Given the description of an element on the screen output the (x, y) to click on. 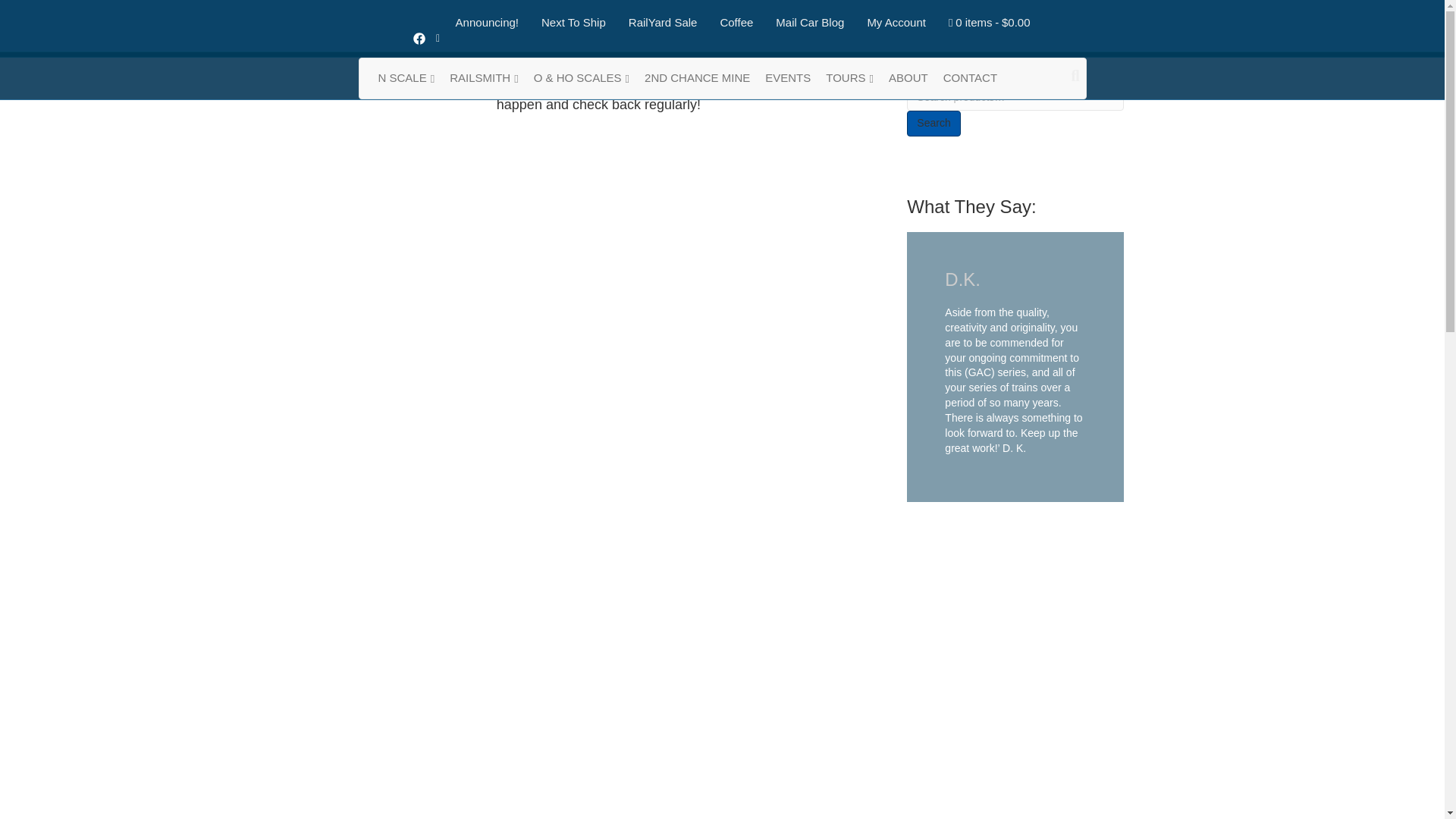
RAILSMITH (483, 78)
Next To Ship (573, 22)
N SCALE (405, 78)
Facebook (419, 37)
Coffee (735, 22)
My Account (896, 22)
Announcing! (486, 22)
RailYard Sale (663, 22)
Rss (437, 37)
Mail Car Blog (810, 22)
Start shopping (989, 22)
About Lowell Smith Signature Series (908, 77)
D.K. (961, 279)
